Given the description of an element on the screen output the (x, y) to click on. 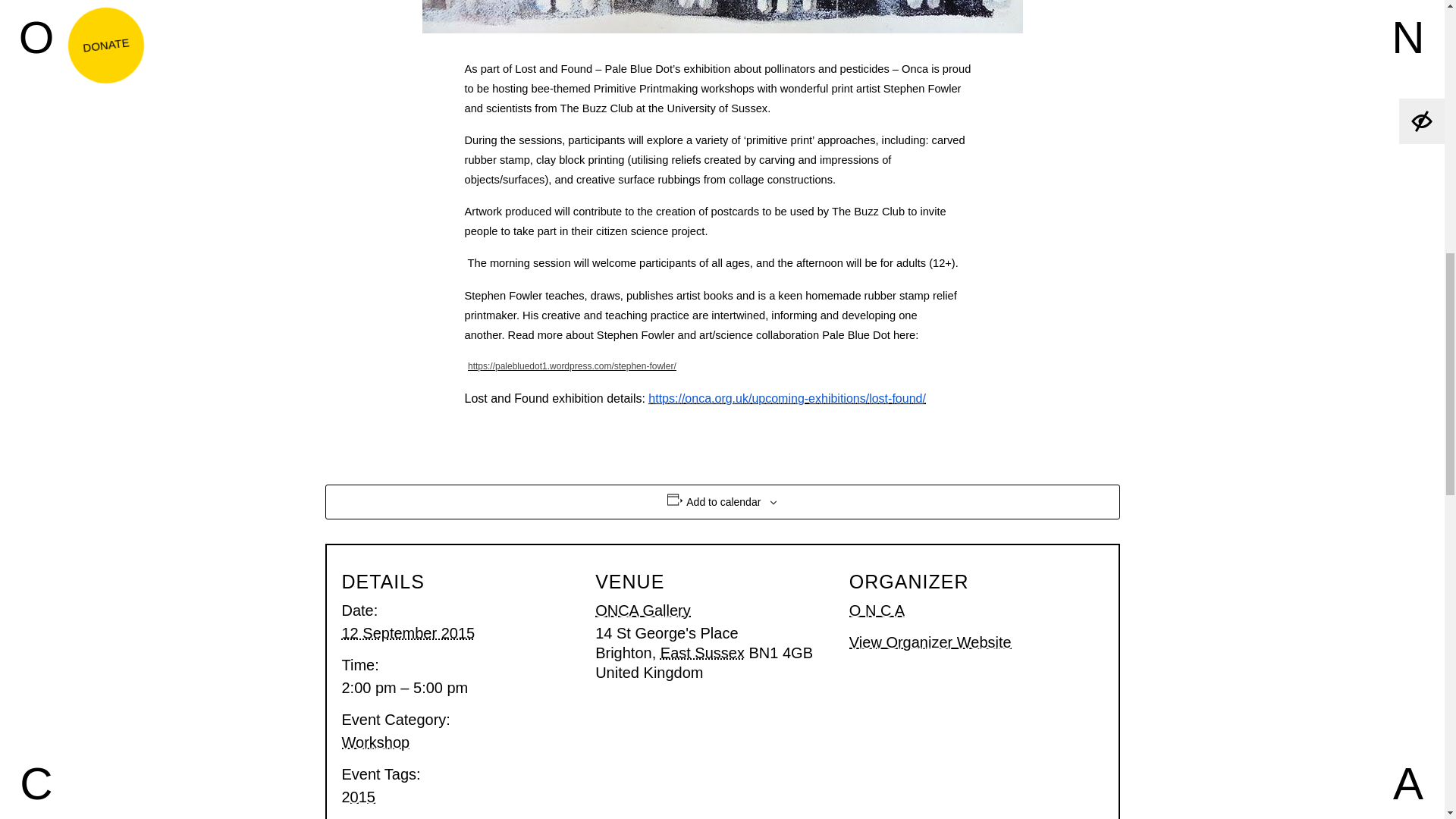
Workshop (374, 742)
Add to calendar (722, 501)
2015-09-12 (458, 687)
East Sussex (702, 652)
2015 (357, 796)
View Organizer Website (929, 641)
O N C A (876, 610)
O N C A (876, 610)
ONCA Gallery (642, 610)
2015-09-12 (407, 632)
